Given the description of an element on the screen output the (x, y) to click on. 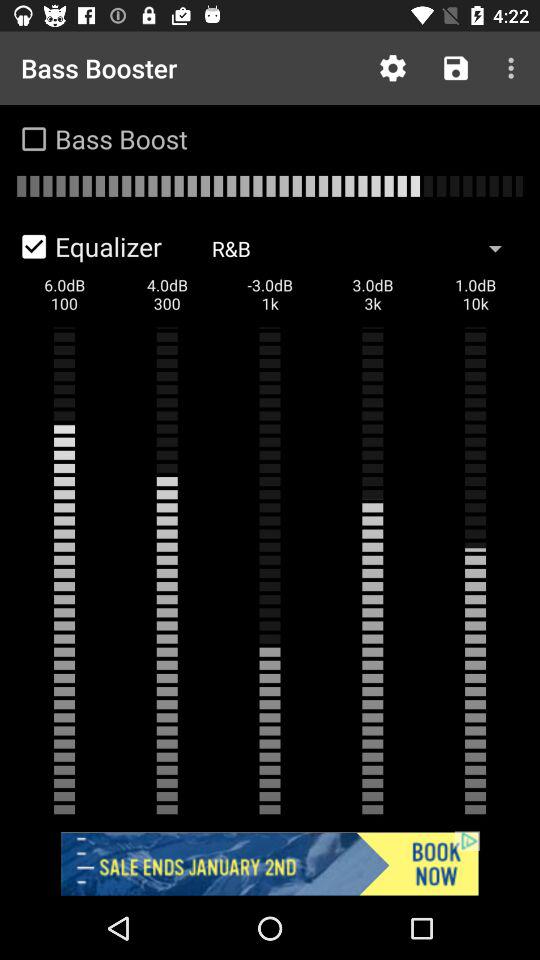
click advertisement banner (270, 864)
